Given the description of an element on the screen output the (x, y) to click on. 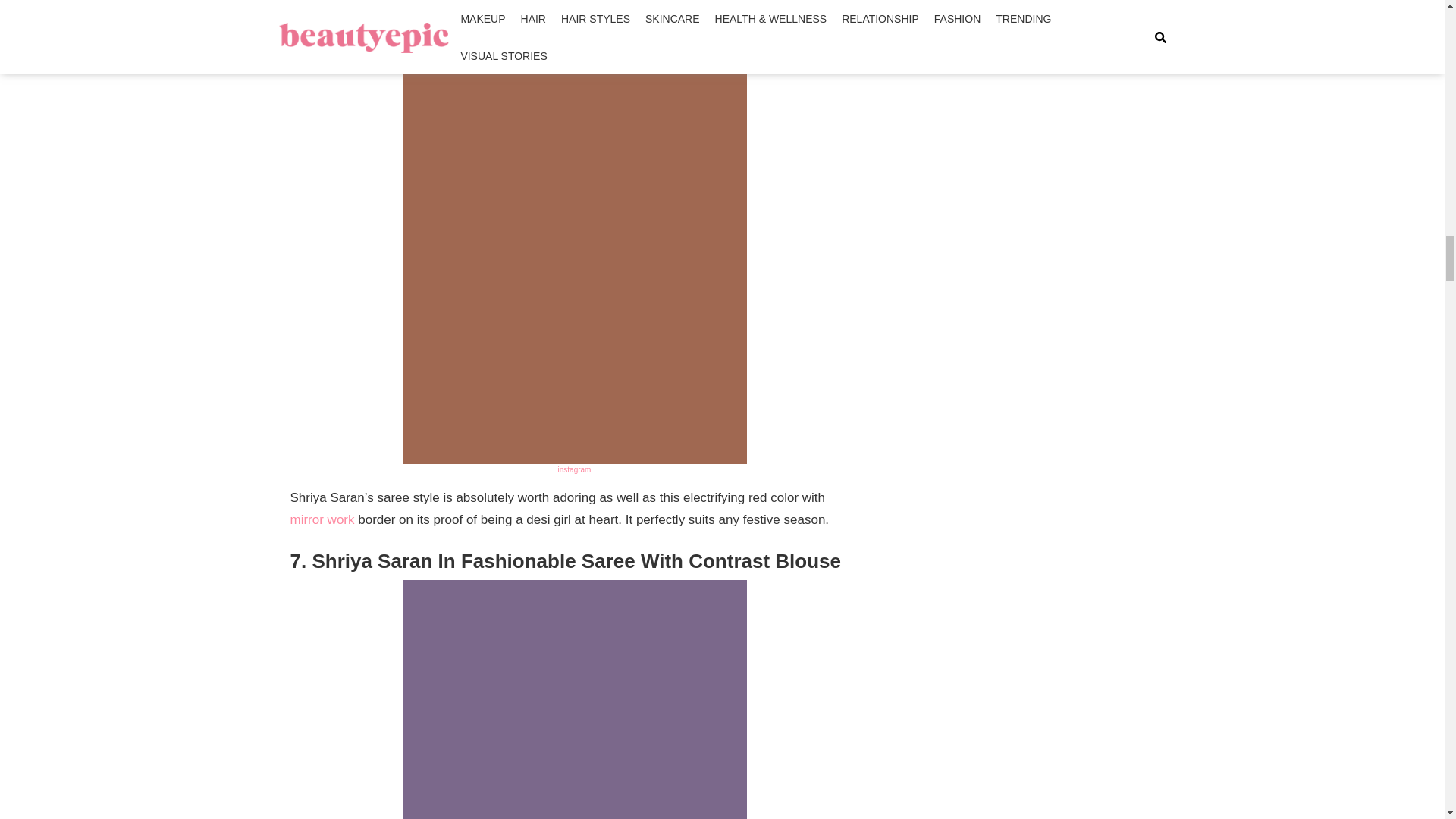
mirror work (321, 519)
